Given the description of an element on the screen output the (x, y) to click on. 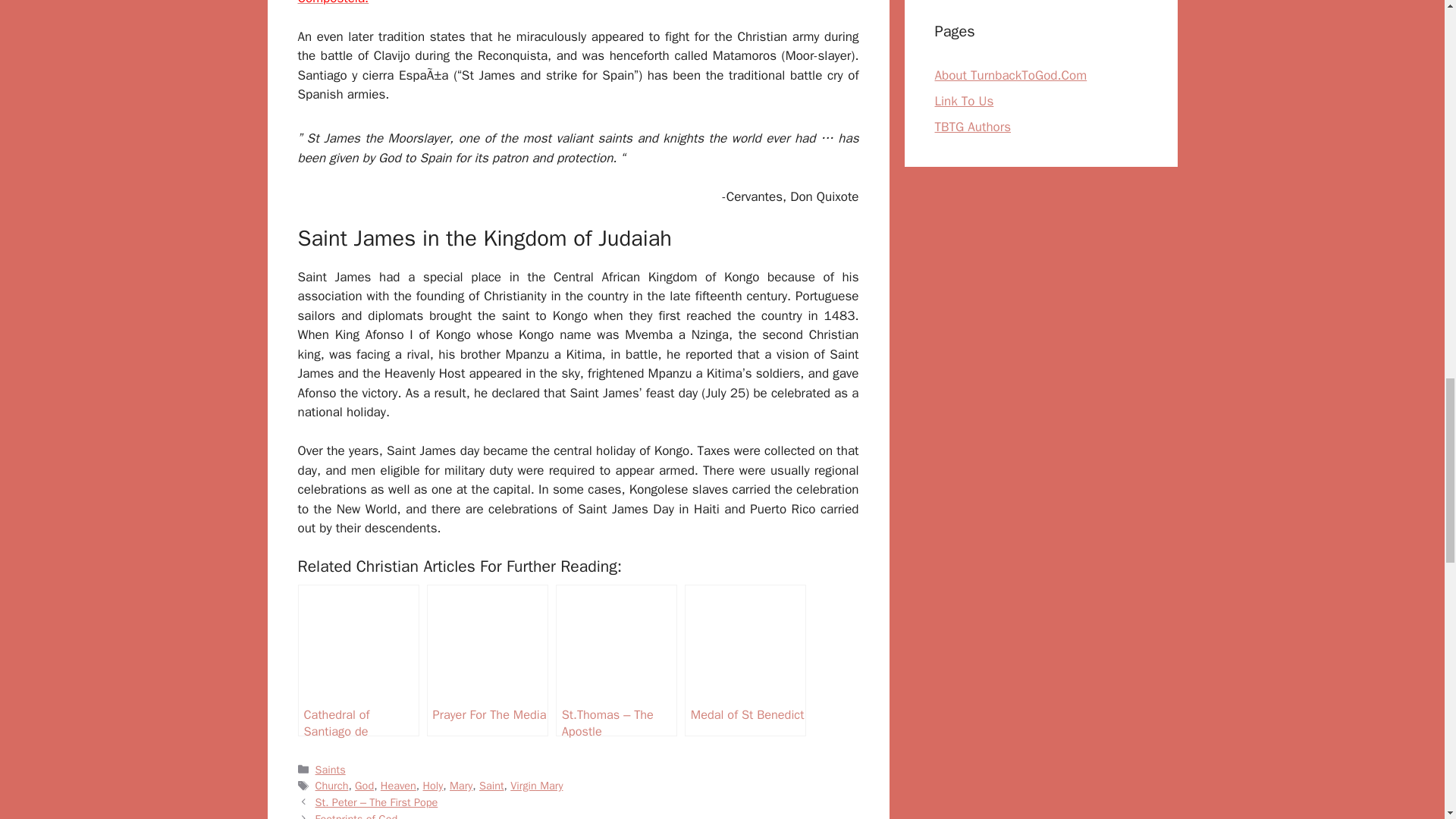
Virgin Mary (536, 785)
Mary (460, 785)
Church (332, 785)
Saint (491, 785)
God (364, 785)
Heaven (398, 785)
Holy (433, 785)
Footprints of God (356, 815)
Saints (330, 769)
